Given the description of an element on the screen output the (x, y) to click on. 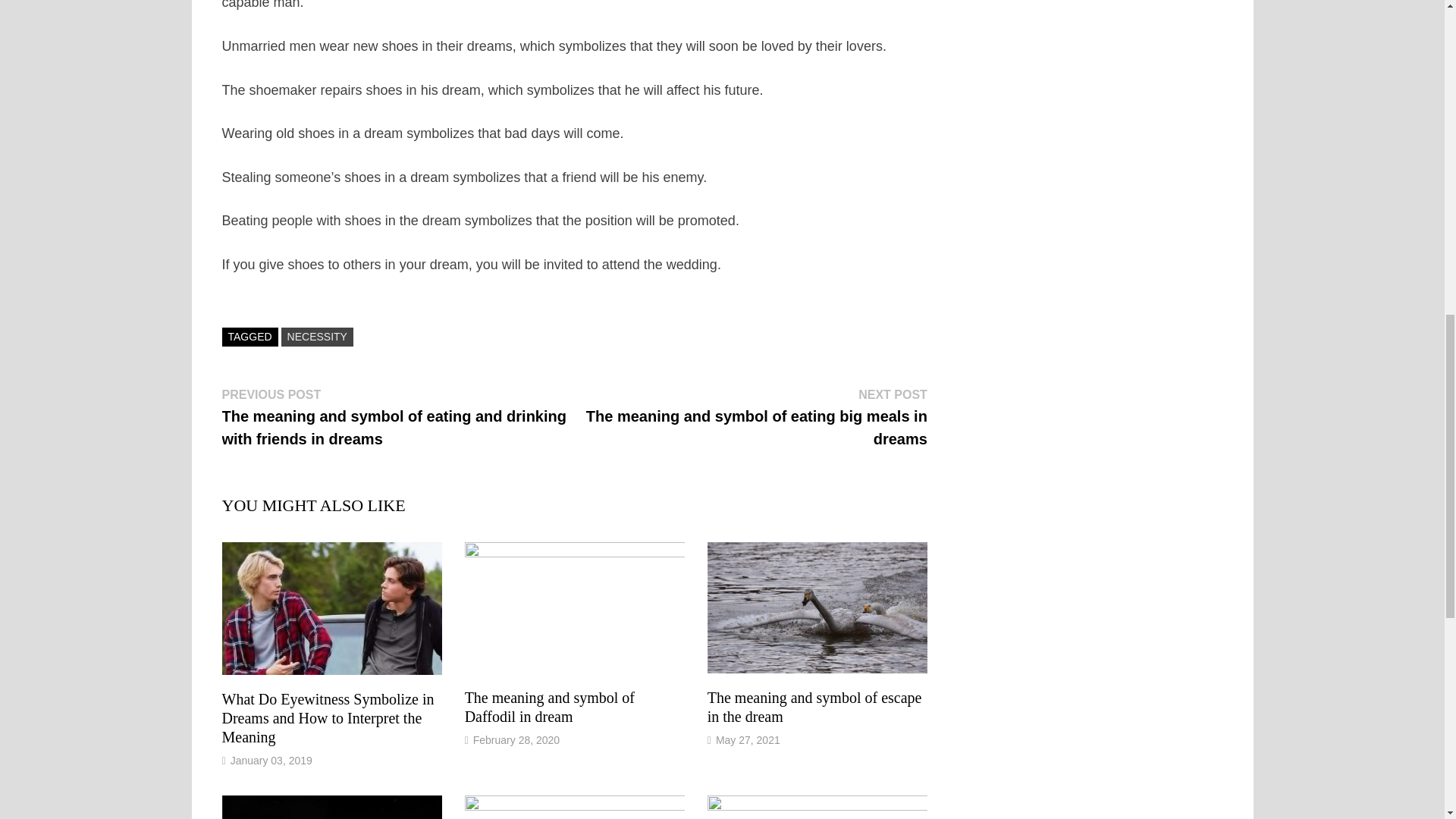
January 03, 2019 (271, 760)
The meaning and symbol of Daffodil in dream (549, 706)
May 27, 2021 (748, 739)
February 28, 2020 (516, 739)
The meaning and symbol of Daffodil in dream (549, 706)
The meaning and symbol of escape in the dream (814, 706)
